Given the description of an element on the screen output the (x, y) to click on. 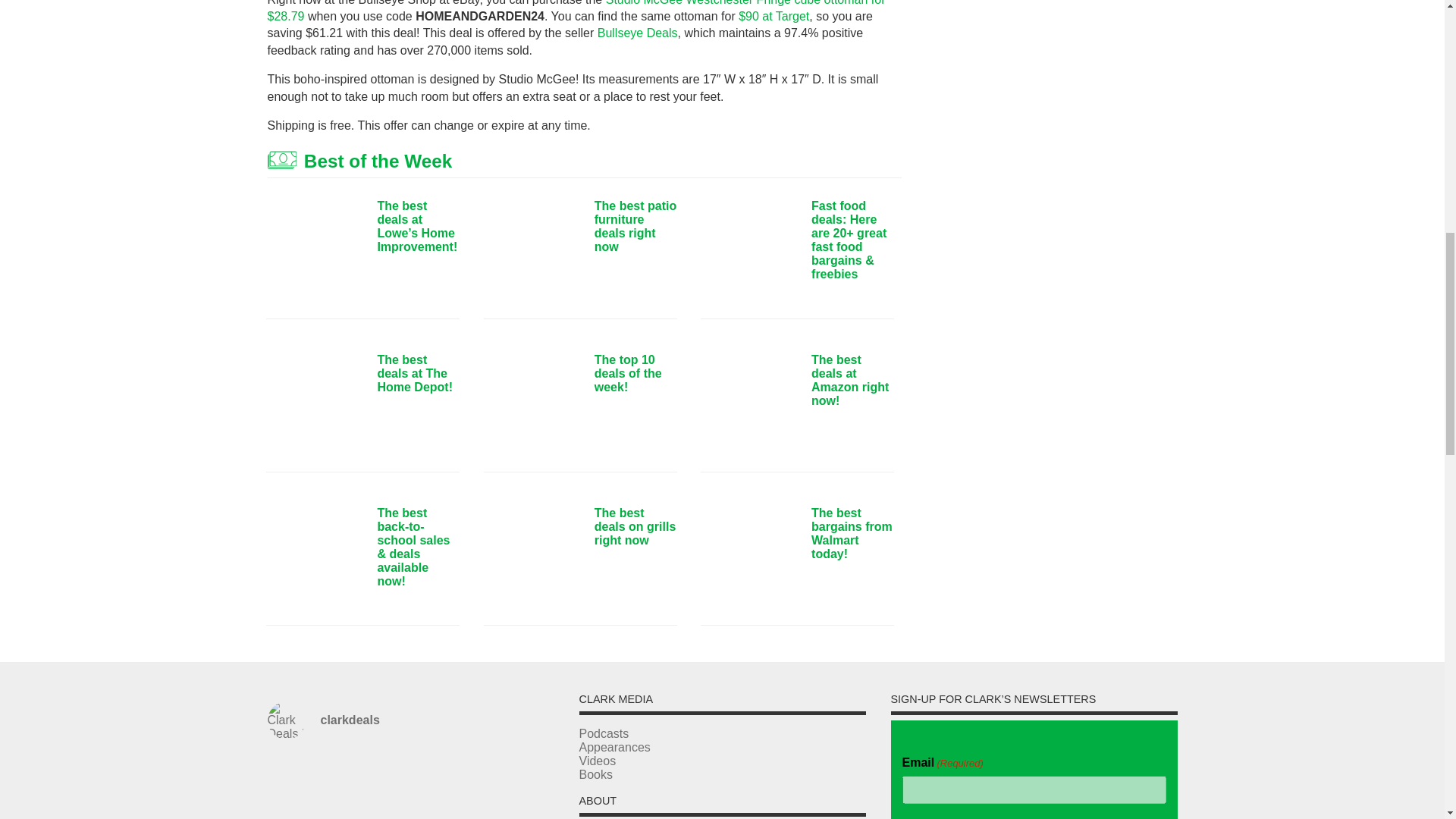
The best patio furniture deals right now (532, 252)
The top 10 deals of the week! (532, 405)
The best deals at The Home Depot! (315, 405)
The best bargains from Walmart today! (749, 558)
The best deals on grills right now (532, 558)
The best deals at Amazon right now! (749, 405)
